Given the description of an element on the screen output the (x, y) to click on. 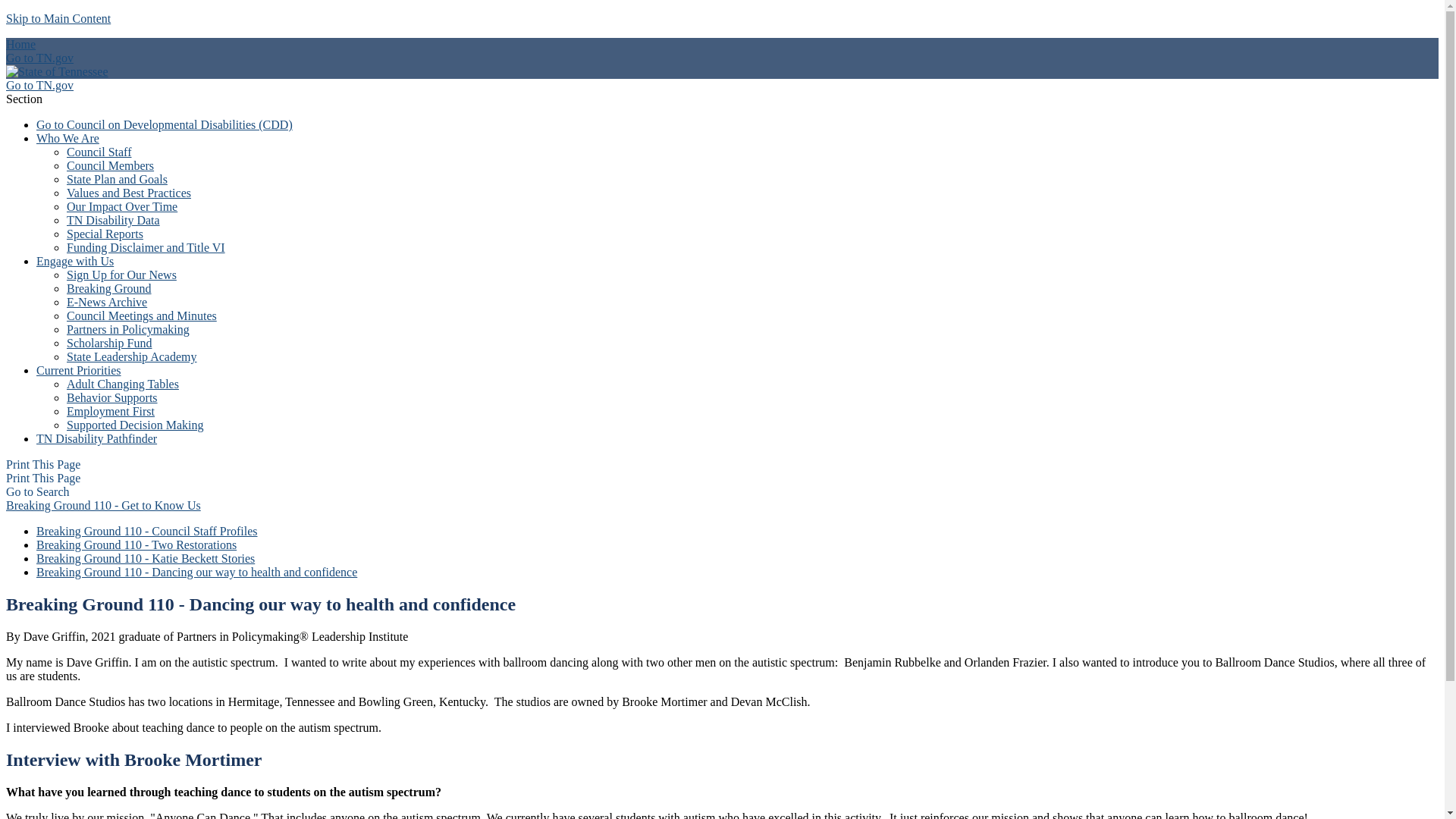
Our Impact Over Time (121, 205)
Supported Decision Making (134, 424)
Skip to Main Content (57, 18)
Breaking Ground 110 - Katie Beckett Stories (145, 558)
Print This Page (42, 463)
Breaking Ground (108, 287)
Values and Best Practices (128, 192)
Go to TN.gov (39, 84)
Scholarship Fund (108, 342)
Current Priorities (78, 369)
